Given the description of an element on the screen output the (x, y) to click on. 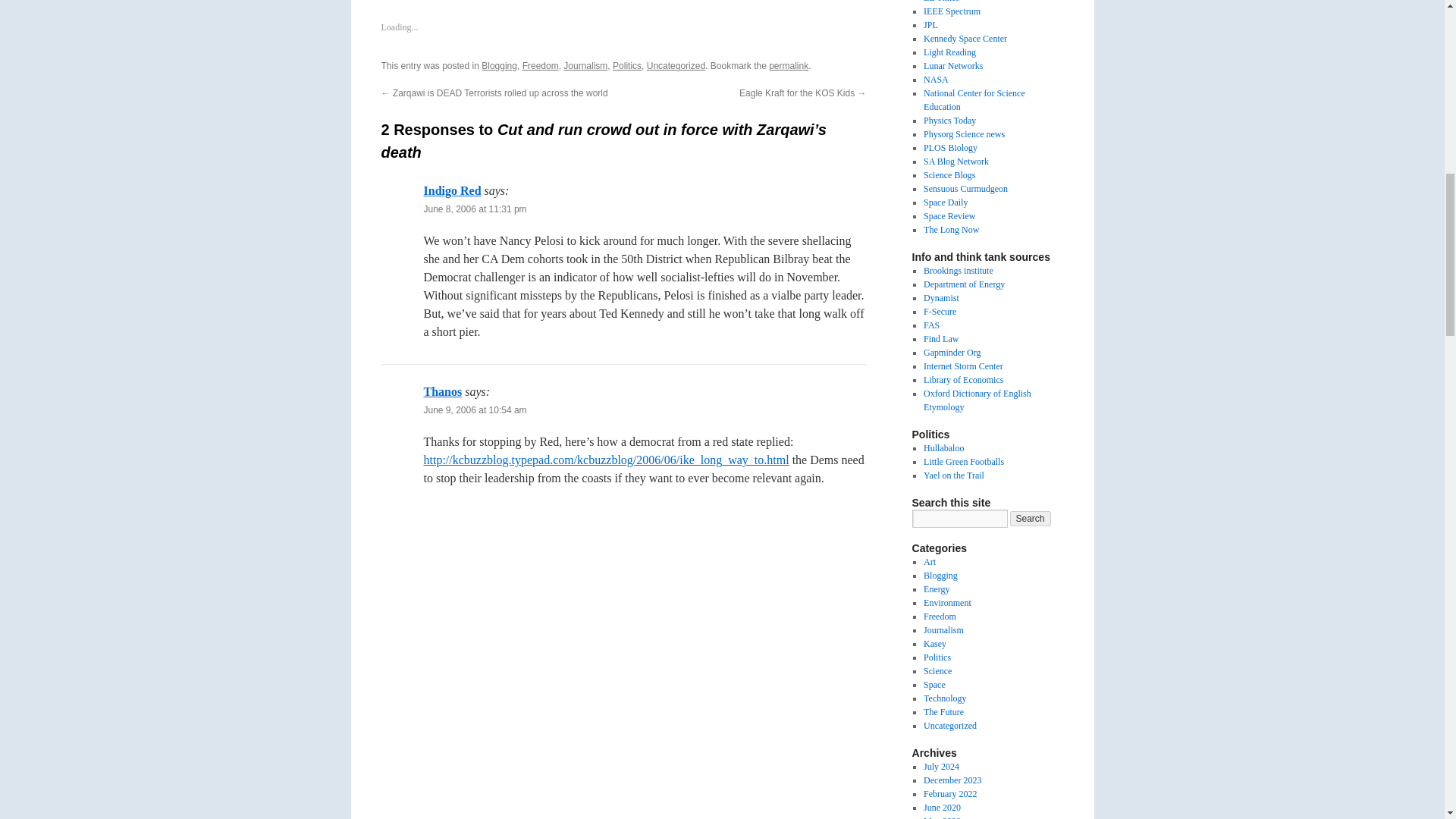
Search (1030, 518)
Freedom (540, 65)
Blogging (498, 65)
permalink (788, 65)
Uncategorized (675, 65)
Journalism (585, 65)
Indigo Red (451, 190)
Politics (627, 65)
